Given the description of an element on the screen output the (x, y) to click on. 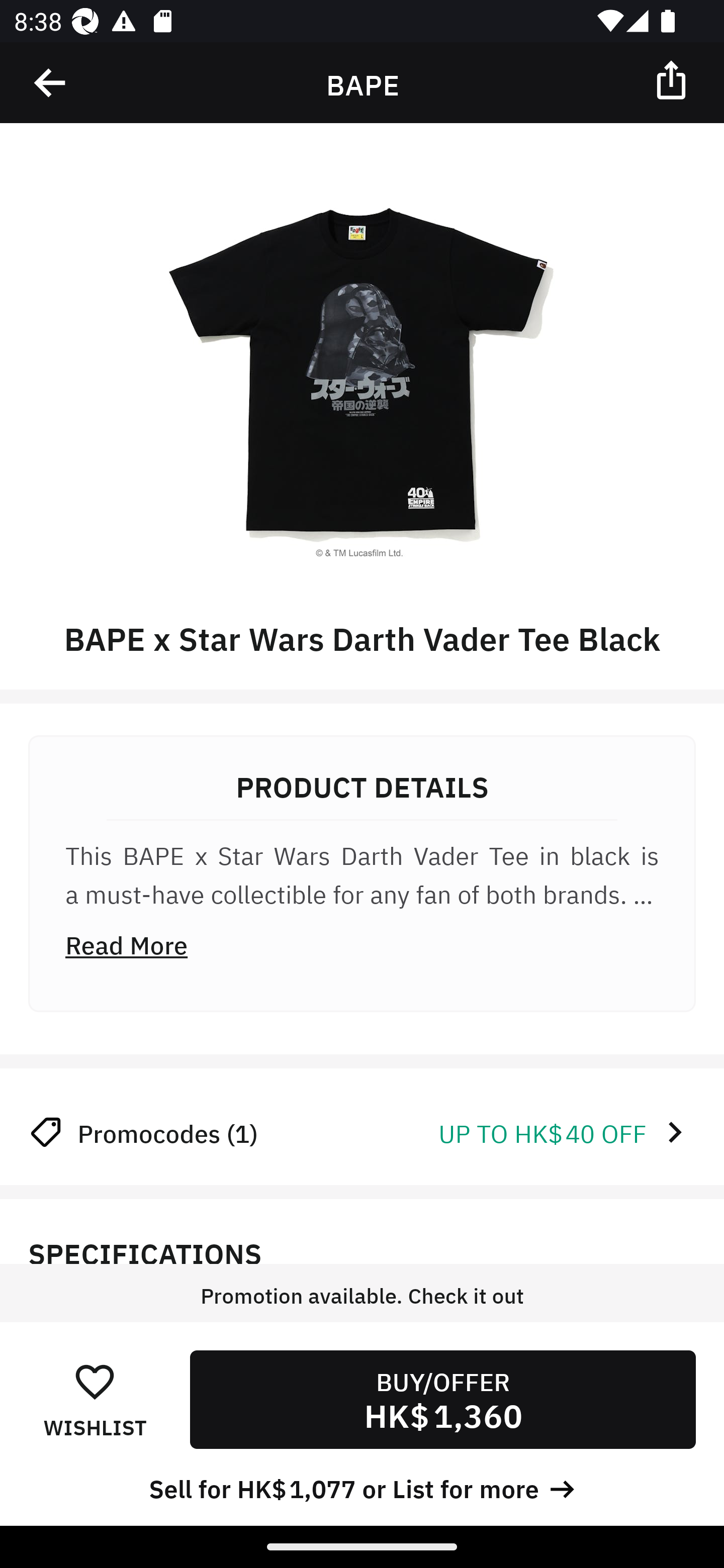
 (50, 83)
 (672, 79)
Promocodes (1) UP TO HK$ 40 OFF  (361, 1132)
BUY/OFFER HK$ 1,360 (442, 1399)
󰋕 (94, 1380)
Sell for HK$ 1,077 or List for more (361, 1486)
